Given the description of an element on the screen output the (x, y) to click on. 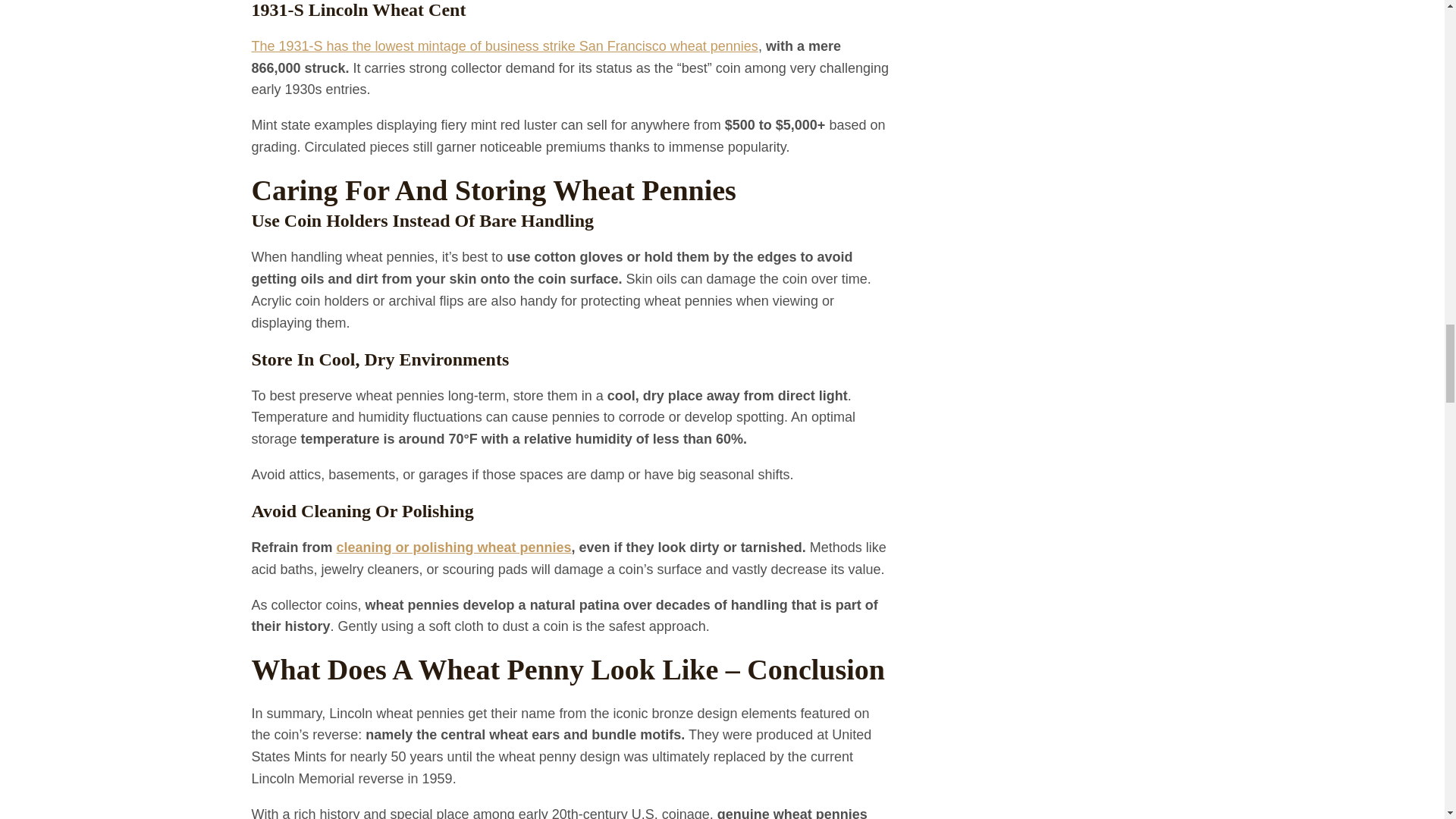
cleaning or polishing wheat pennies (454, 547)
